Given the description of an element on the screen output the (x, y) to click on. 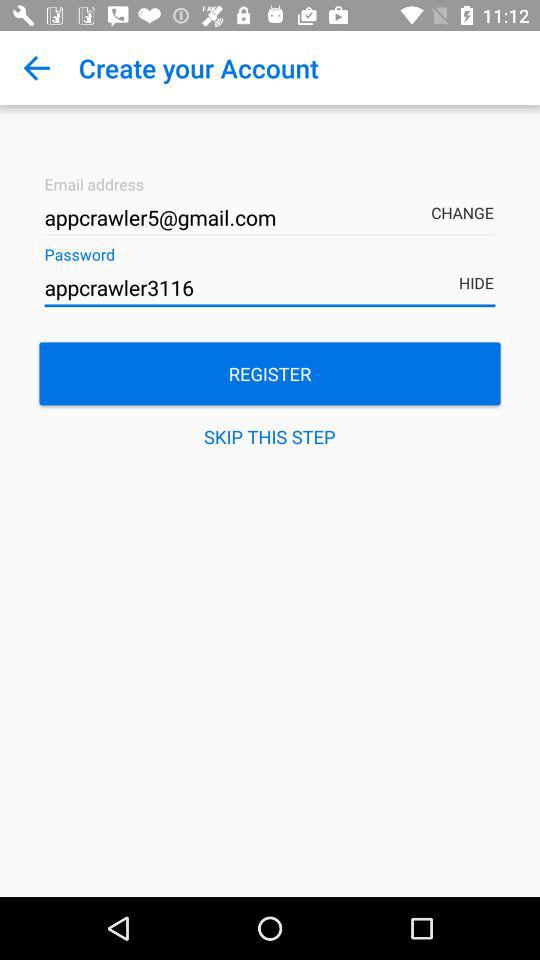
jump until skip this step item (269, 436)
